Given the description of an element on the screen output the (x, y) to click on. 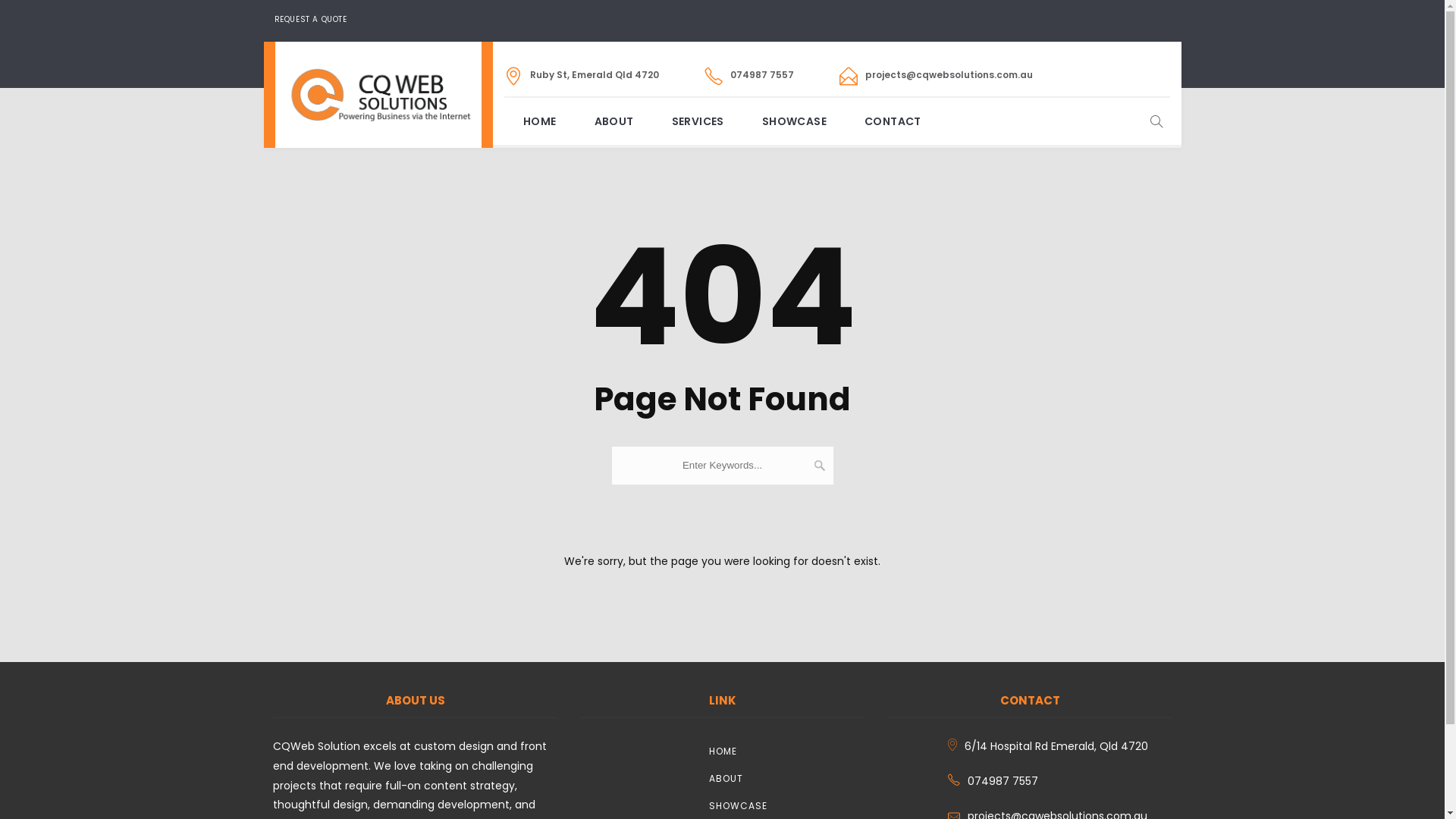
HOME Element type: text (539, 120)
CONTACT Element type: text (892, 120)
REQUEST A QUOTE Element type: text (310, 19)
SHOWCASE Element type: text (794, 120)
6/14 Hospital Rd Emerald, Qld 4720 Element type: text (1059, 746)
SERVICES Element type: text (697, 120)
HOME Element type: text (786, 750)
ABOUT Element type: text (786, 777)
Search Element type: text (718, 503)
ABOUT Element type: text (613, 120)
074987 7557 Element type: text (1059, 781)
